Given the description of an element on the screen output the (x, y) to click on. 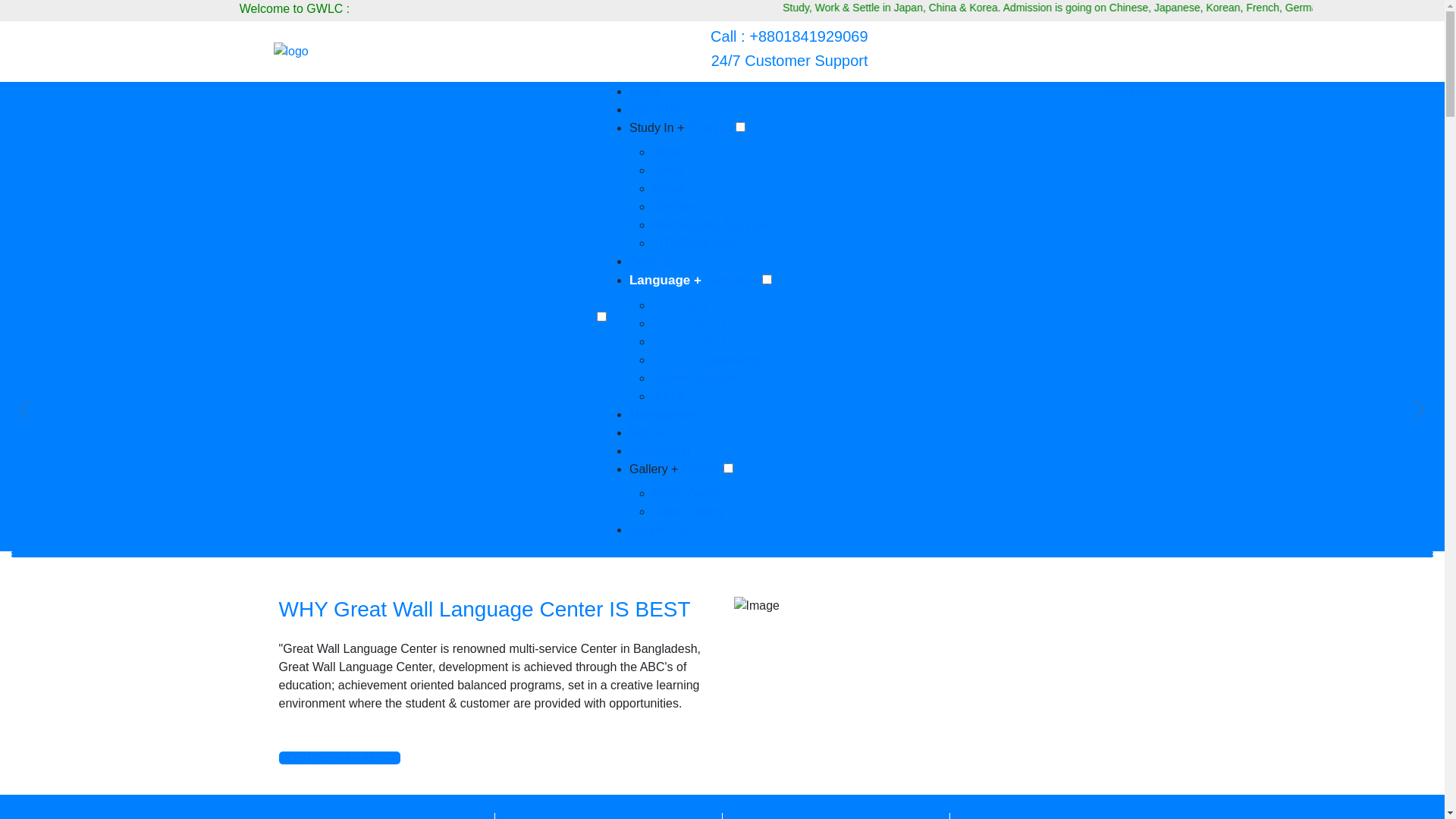
Services Element type: text (652, 260)
Language Element type: text (733, 279)
Japan Element type: text (668, 151)
International Job visa Element type: text (709, 224)
CONTINUE READING Element type: text (340, 757)
IELTS Element type: text (668, 395)
Notice Element type: text (646, 432)
Spoken English Element type: text (694, 377)
Germany Element type: text (677, 206)
Home Element type: text (645, 90)
Video Gallery Element type: text (688, 511)
Korea Element type: text (668, 188)
Photo Gallery Element type: text (688, 492)
Contact Us Element type: text (659, 529)
Admission Element type: text (1129, 90)
TITP/SSW Visa Element type: text (694, 242)
Management Element type: text (664, 413)
China Element type: text (668, 169)
Study In Element type: text (709, 127)
Gallery Element type: text (700, 468)
About Us Element type: text (654, 109)
Testimonial Element type: text (659, 450)
